Given the description of an element on the screen output the (x, y) to click on. 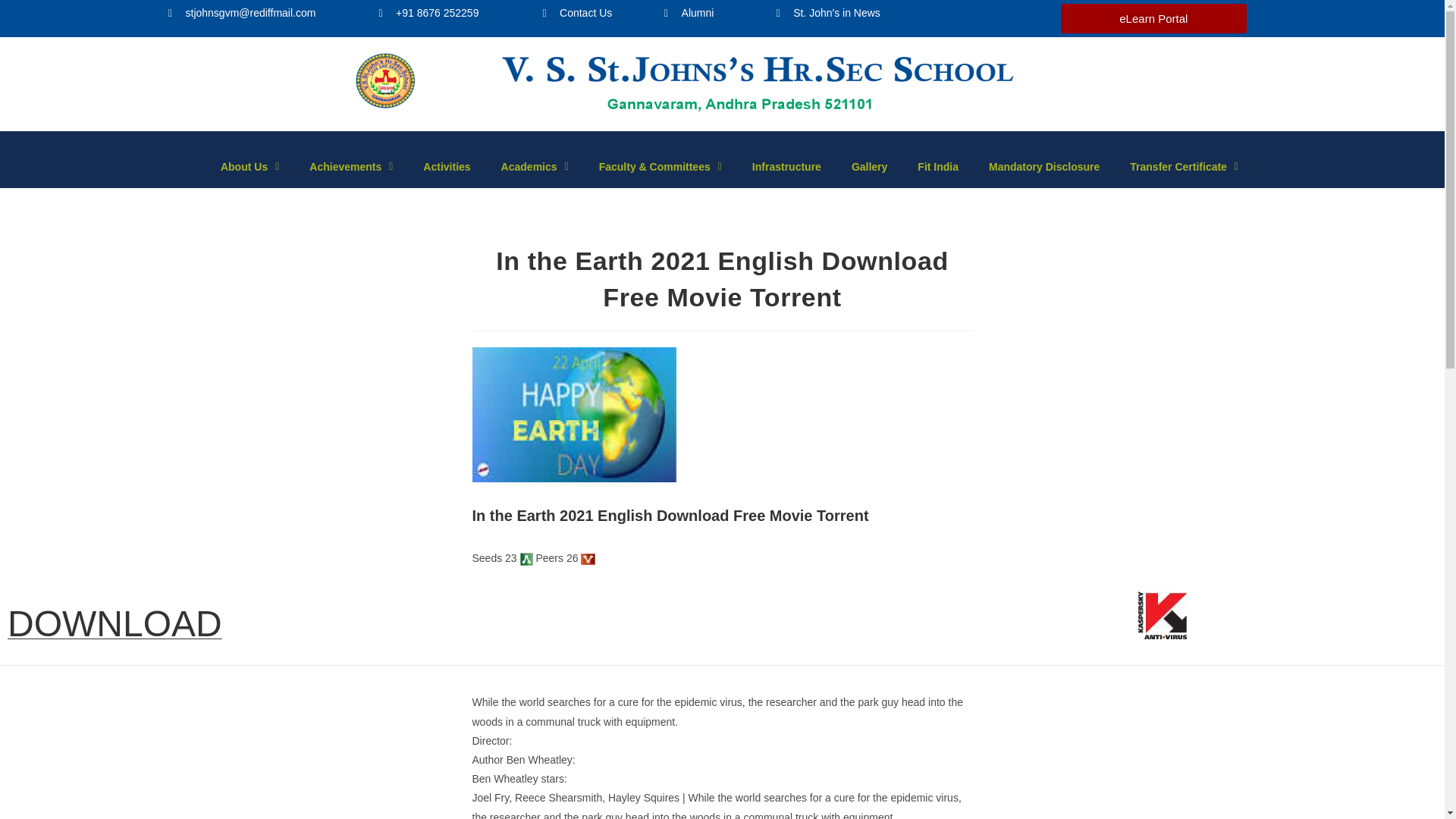
eLearn Portal (1153, 18)
Gallery (868, 166)
Fit India (938, 166)
Alumni (705, 13)
About Us (249, 166)
Mandatory Disclosure (1044, 166)
Academics (534, 166)
Achievements (350, 166)
Infrastructure (785, 166)
St. John's in News (914, 13)
